Given the description of an element on the screen output the (x, y) to click on. 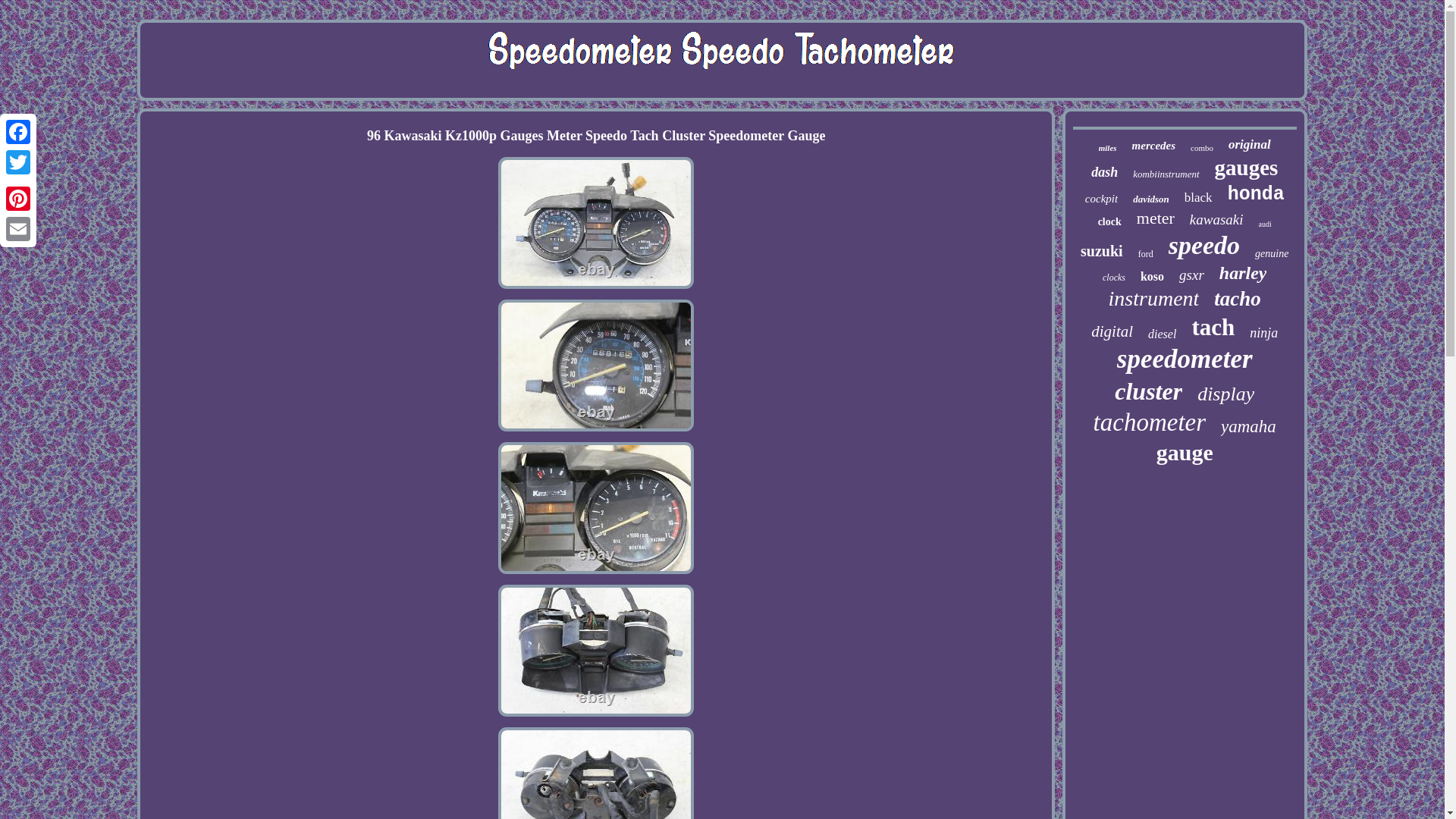
ford (1145, 254)
digital (1111, 331)
harley (1243, 272)
Pinterest (17, 198)
black (1198, 197)
gsxr (1191, 274)
cockpit (1101, 198)
original (1249, 144)
